Given the description of an element on the screen output the (x, y) to click on. 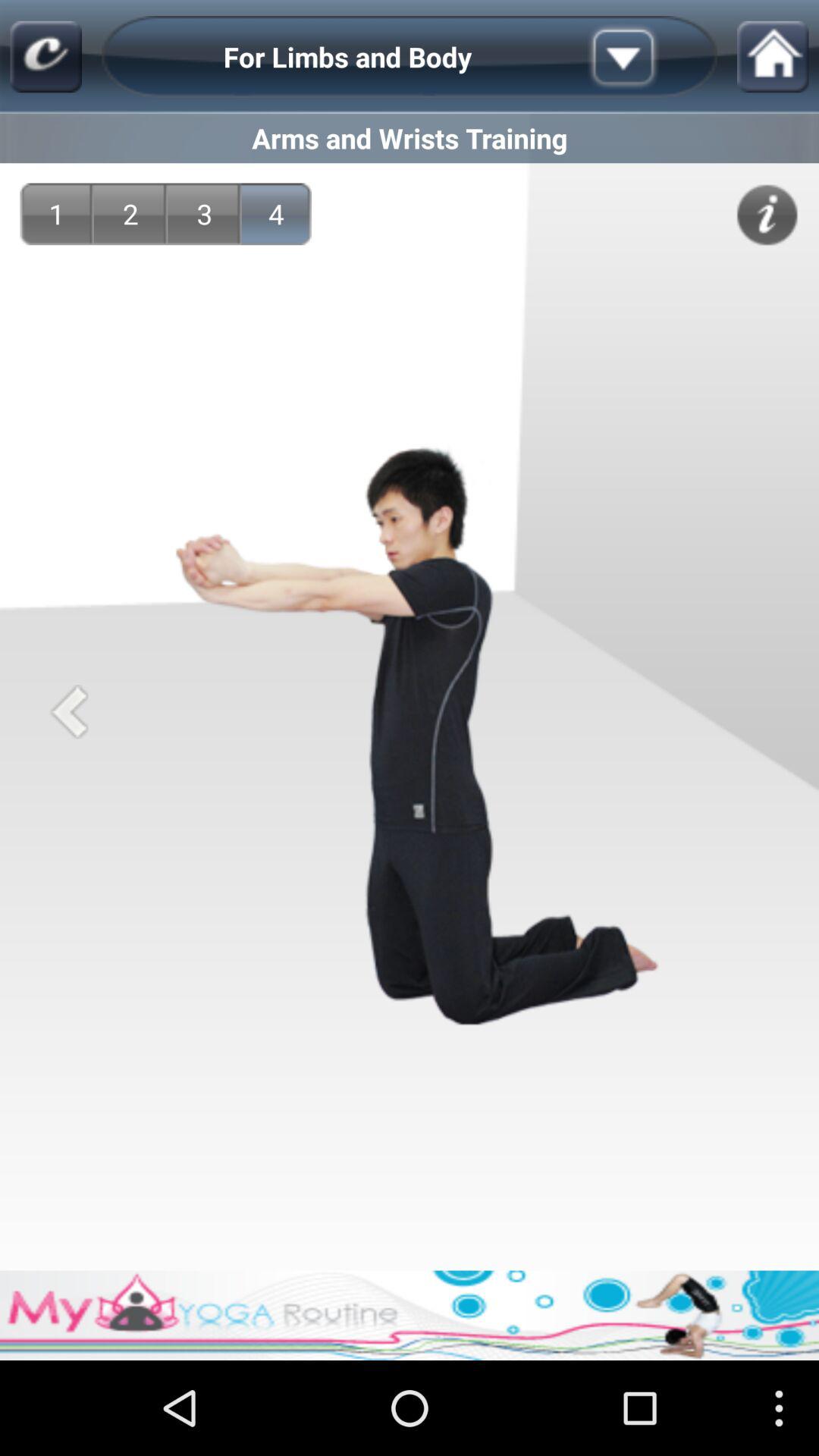
see more information (767, 214)
